Given the description of an element on the screen output the (x, y) to click on. 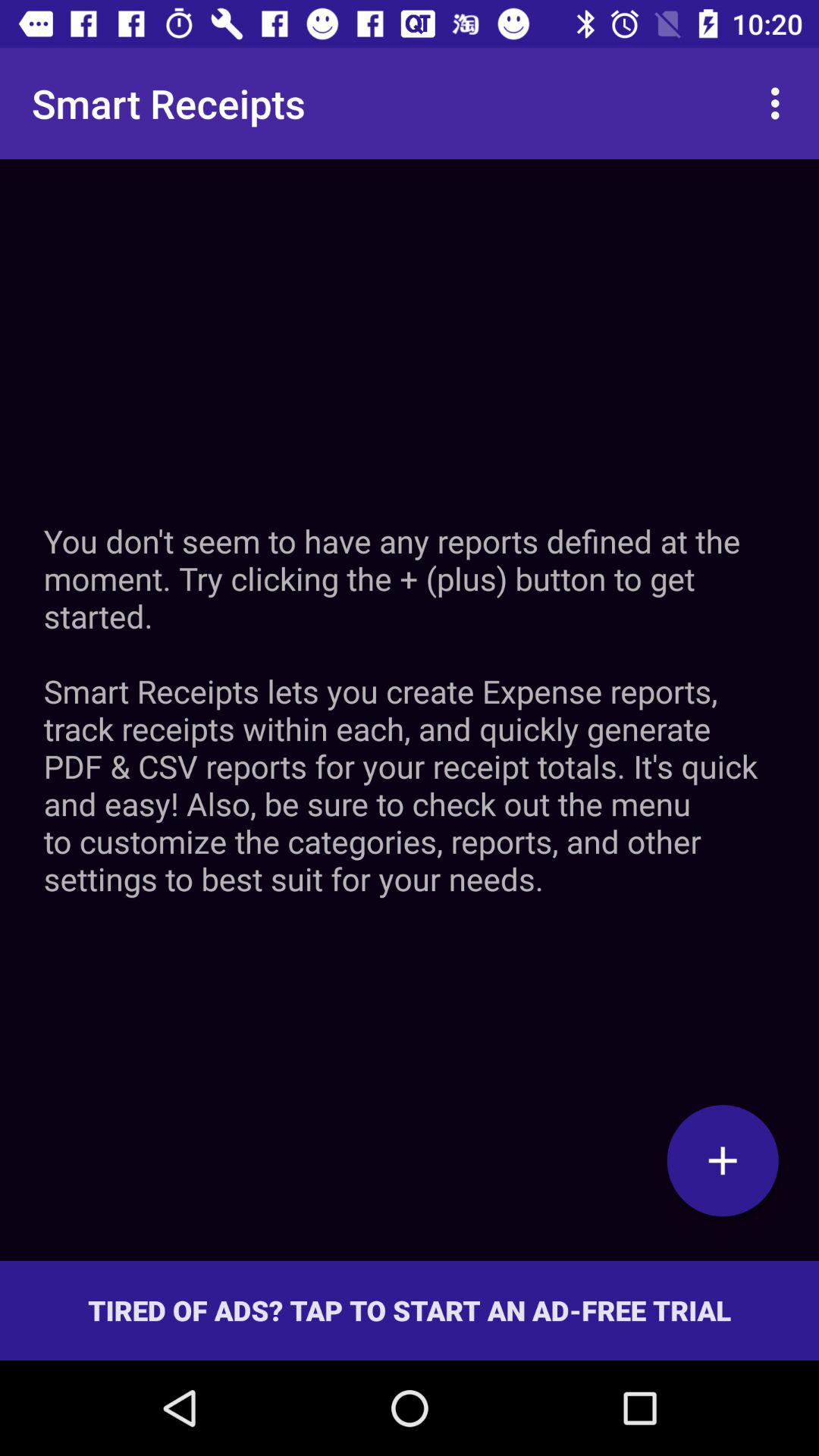
choose the icon at the bottom right corner (722, 1160)
